Given the description of an element on the screen output the (x, y) to click on. 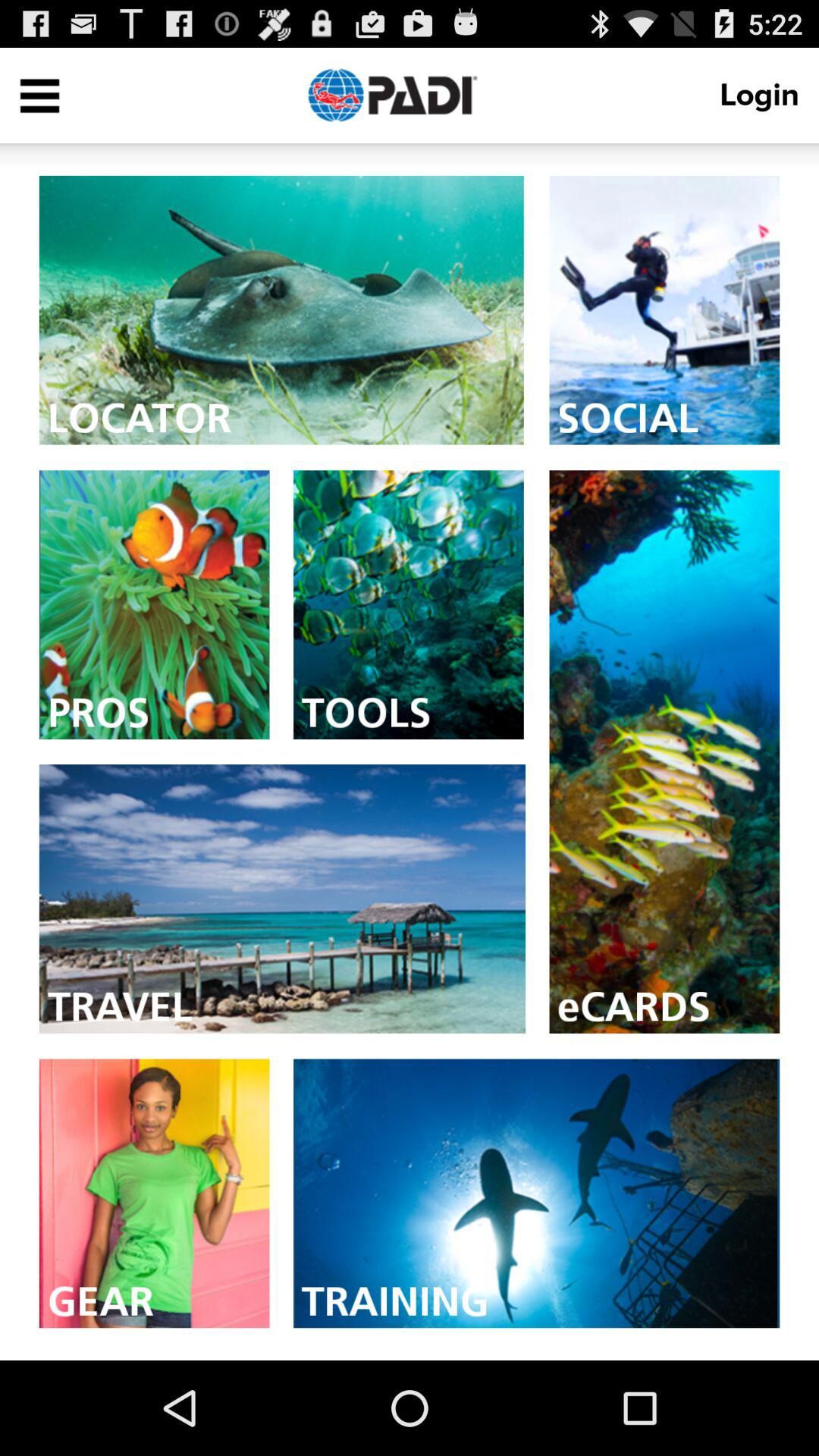
tools (408, 604)
